Given the description of an element on the screen output the (x, y) to click on. 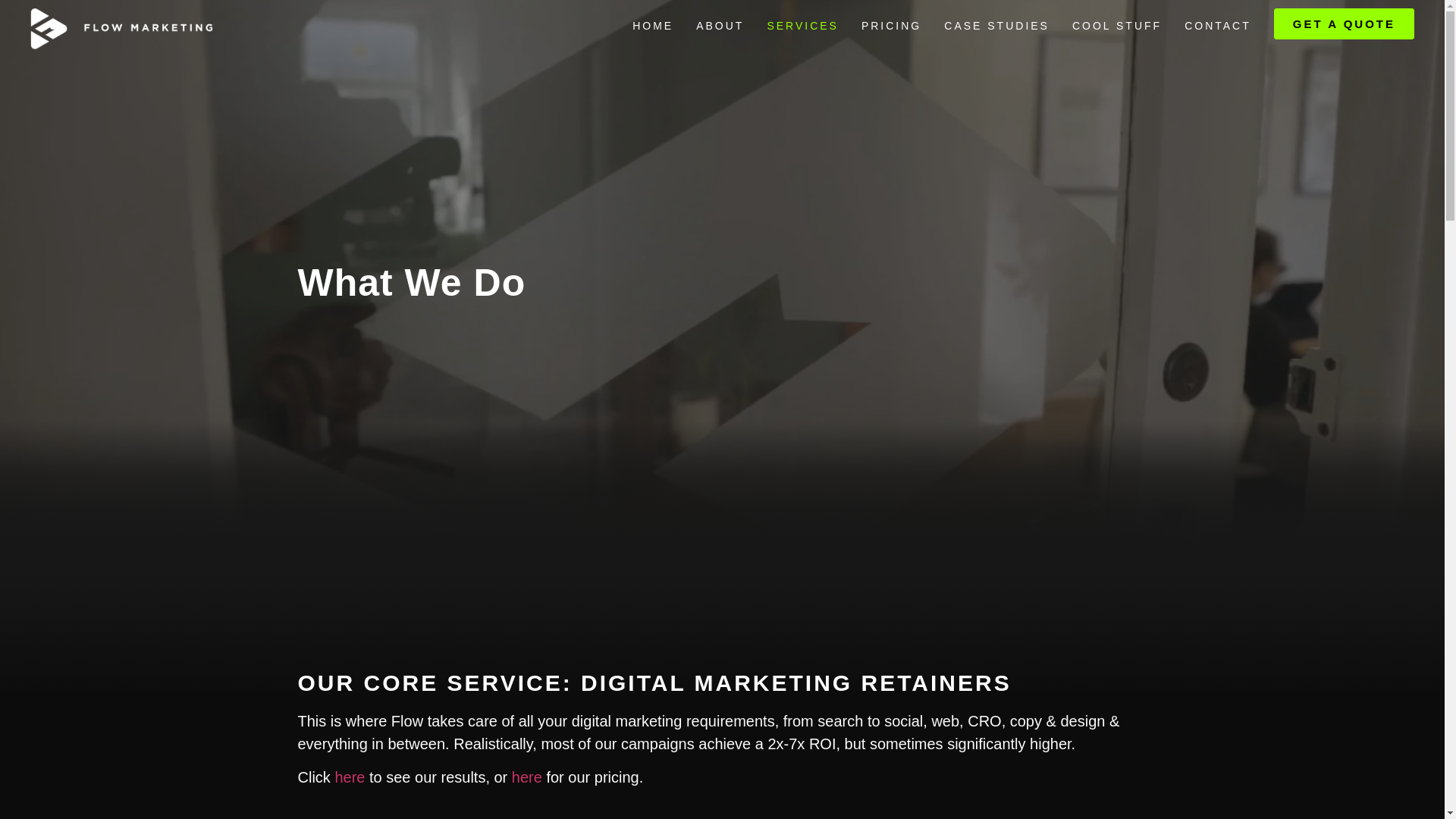
COOL STUFF (1117, 25)
HOME (652, 25)
CASE STUDIES (997, 25)
SERVICES (802, 25)
ABOUT (719, 25)
CONTACT (1217, 25)
PRICING (891, 25)
